Given the description of an element on the screen output the (x, y) to click on. 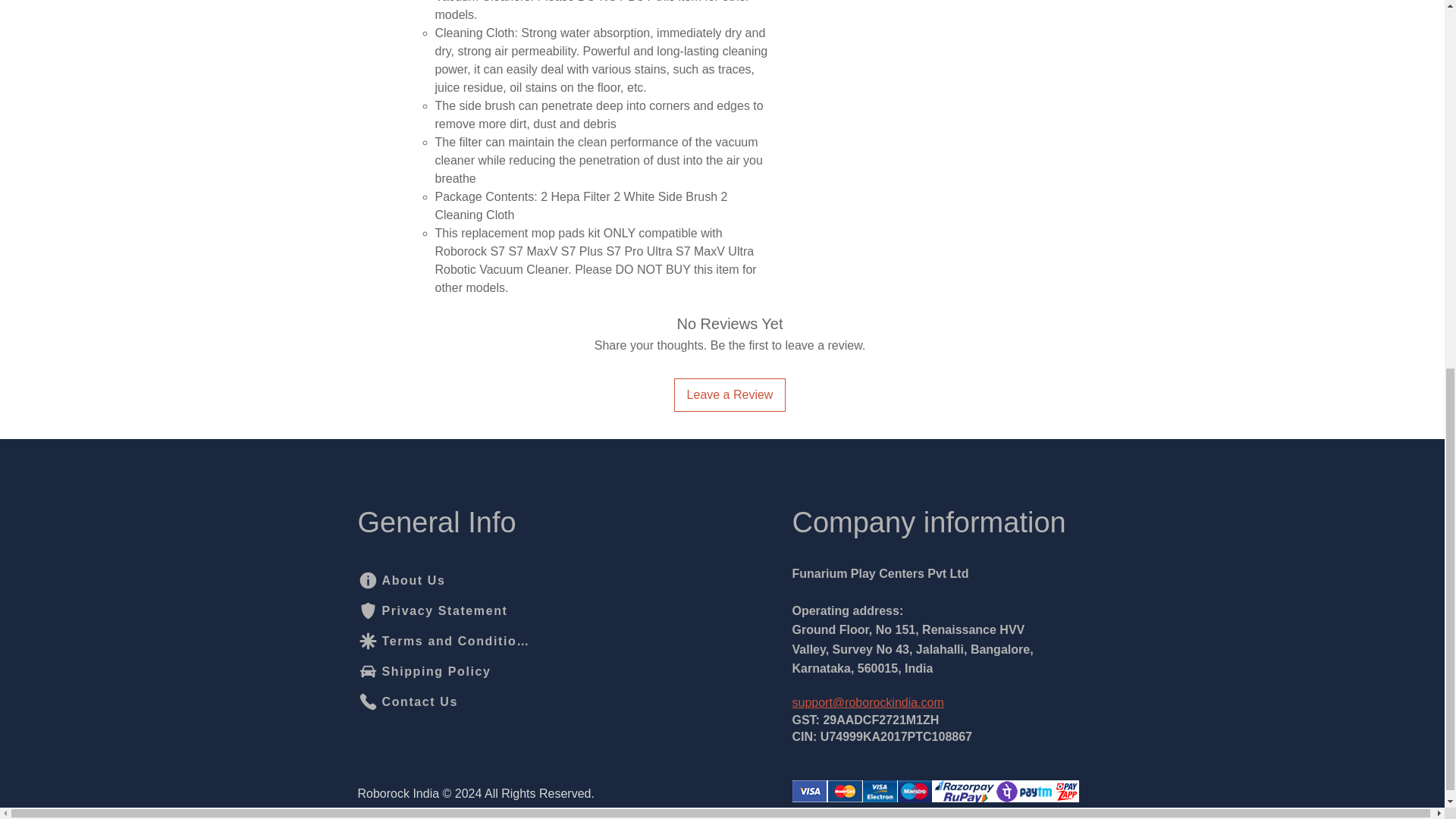
Leave a Review (730, 394)
Terms and Conditions (444, 641)
About Us (433, 580)
Contact Us (410, 702)
Shipping Policy (433, 671)
Privacy Statement (433, 611)
